Given the description of an element on the screen output the (x, y) to click on. 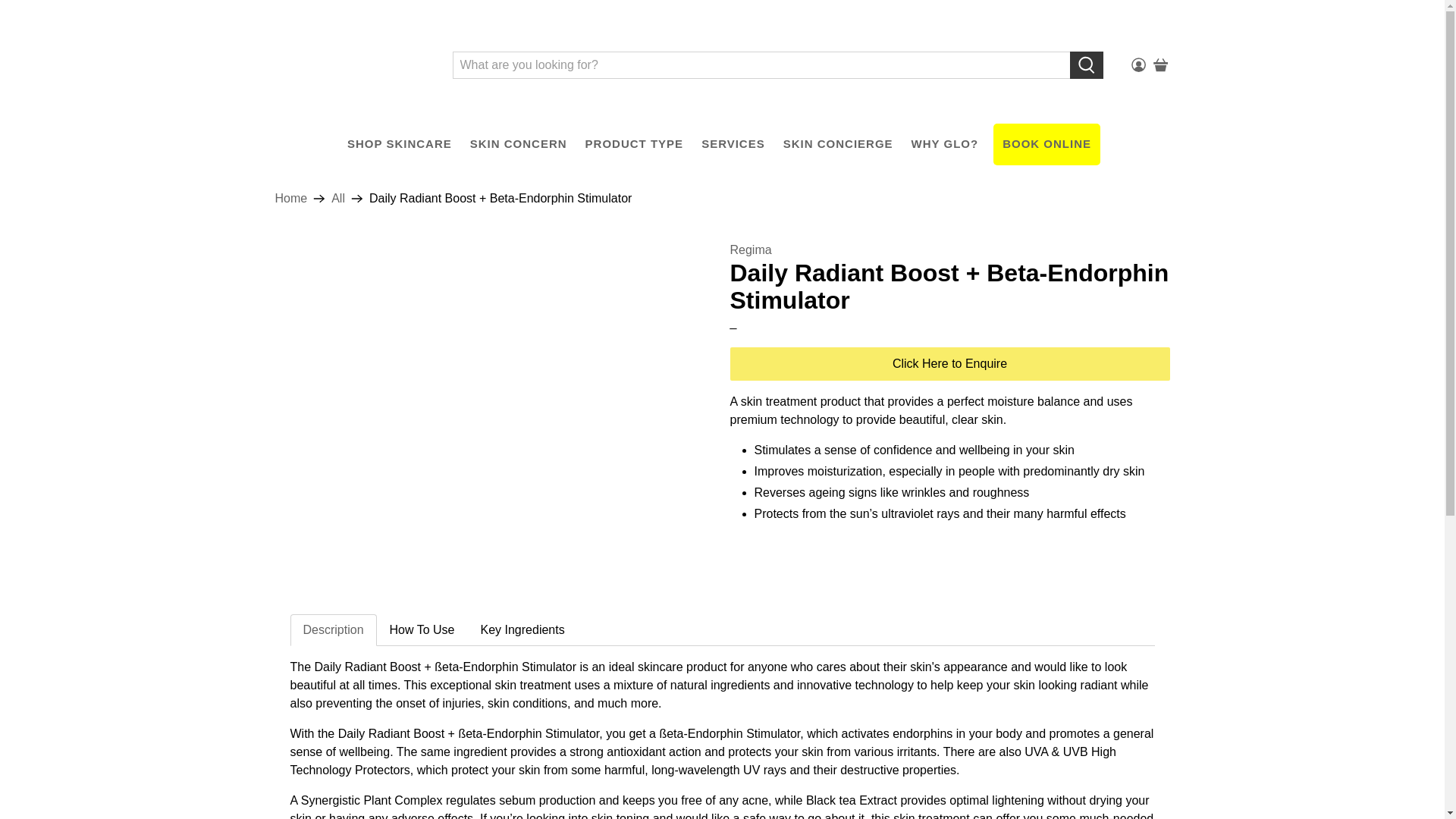
Glo Laser and Beauty (291, 198)
Regima (750, 249)
SERVICES (733, 144)
SKIN CONCERN (518, 144)
PRODUCT TYPE (634, 144)
WHY GLO? (945, 144)
SKIN CONCIERGE (838, 144)
SHOP SKINCARE (399, 144)
BOOK ONLINE (1046, 144)
Glo Laser and Beauty (352, 64)
